Given the description of an element on the screen output the (x, y) to click on. 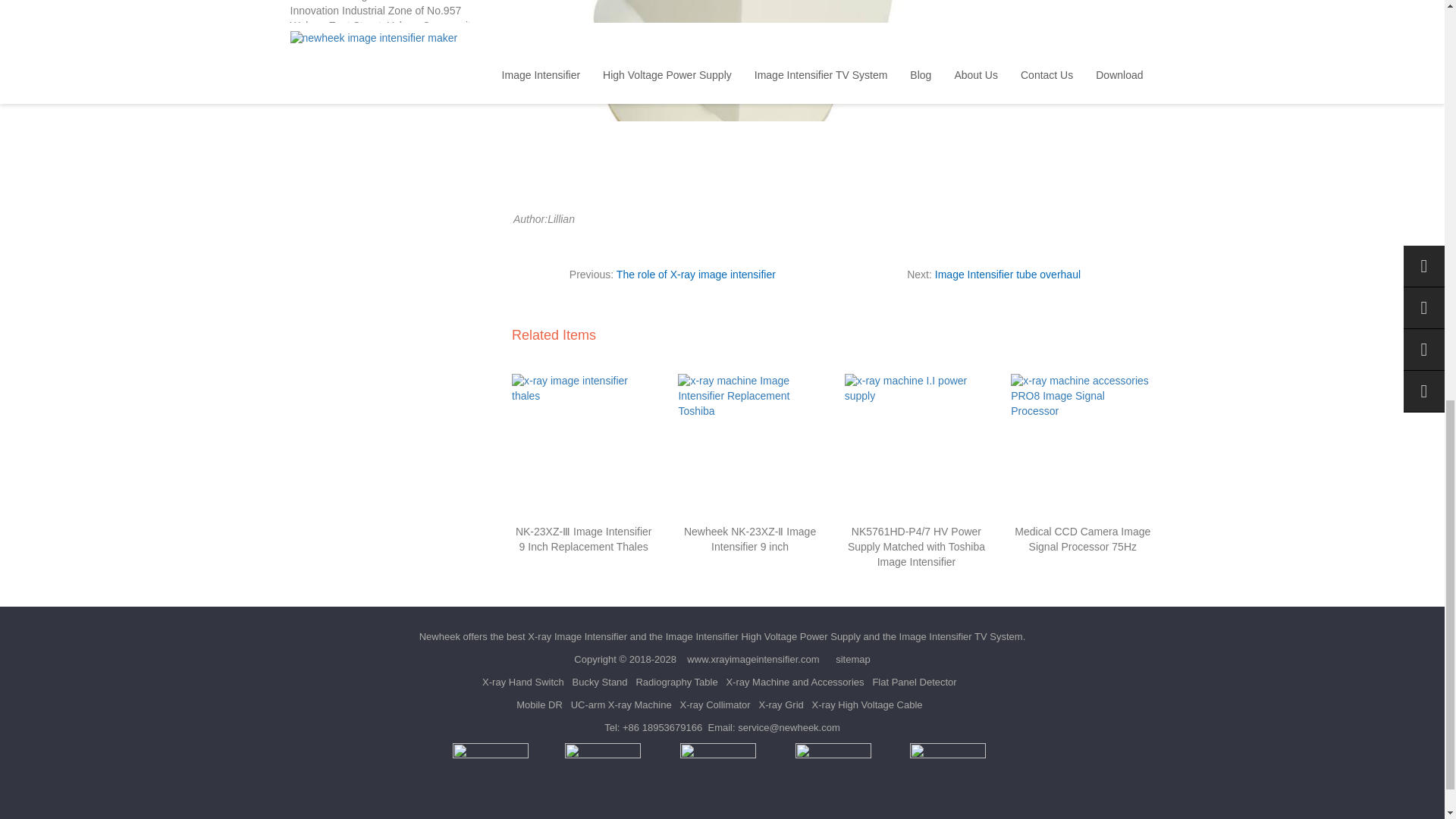
The role of X-ray image intensifier (695, 274)
Image Intensifier tube overhaul (1007, 274)
Medical CCD Camera Image Signal Processor 75Hz (1082, 538)
Medical CCD Camera Image Signal Processor 75Hz (1082, 538)
